Given the description of an element on the screen output the (x, y) to click on. 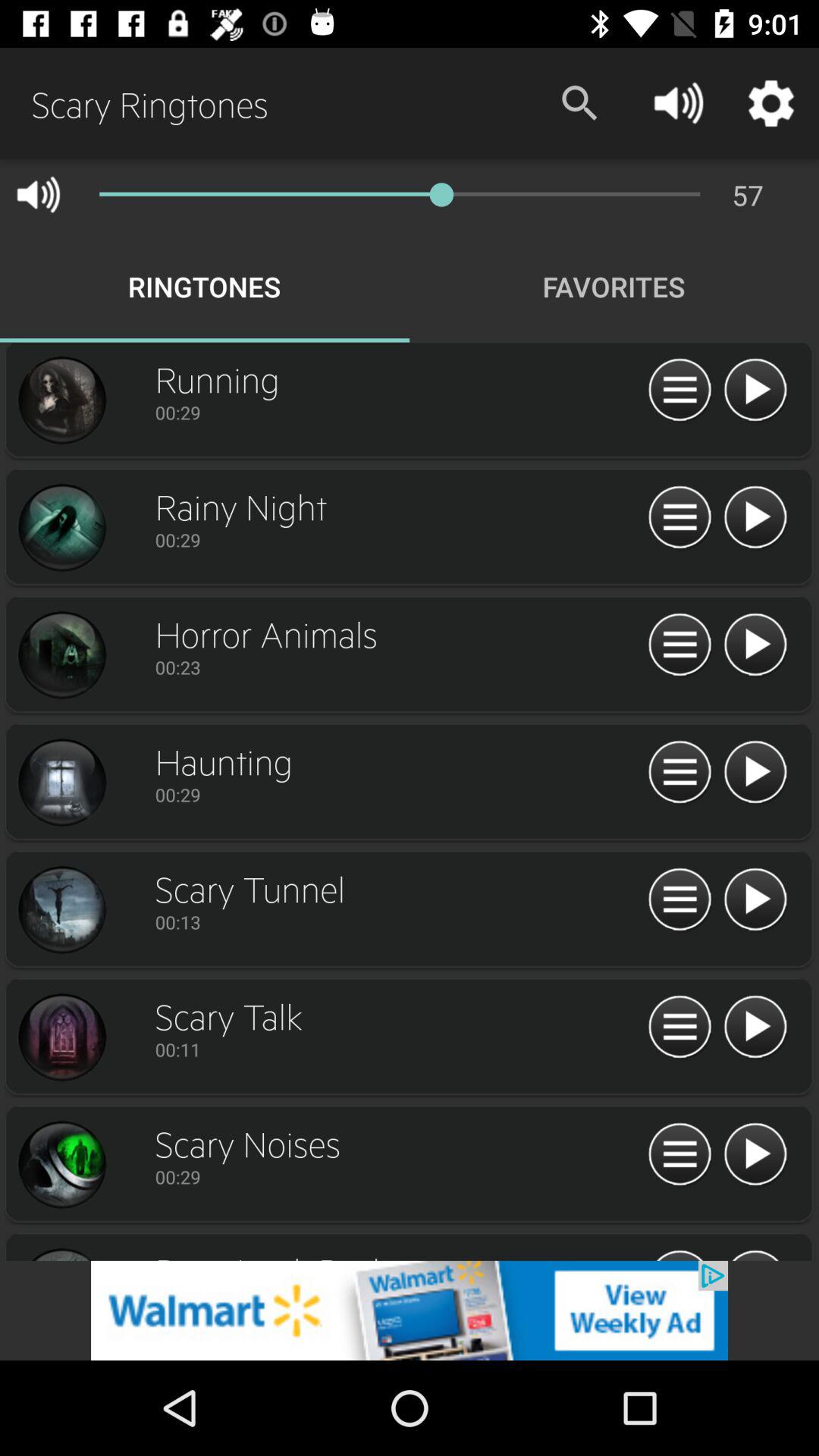
play ringtone (755, 772)
